Given the description of an element on the screen output the (x, y) to click on. 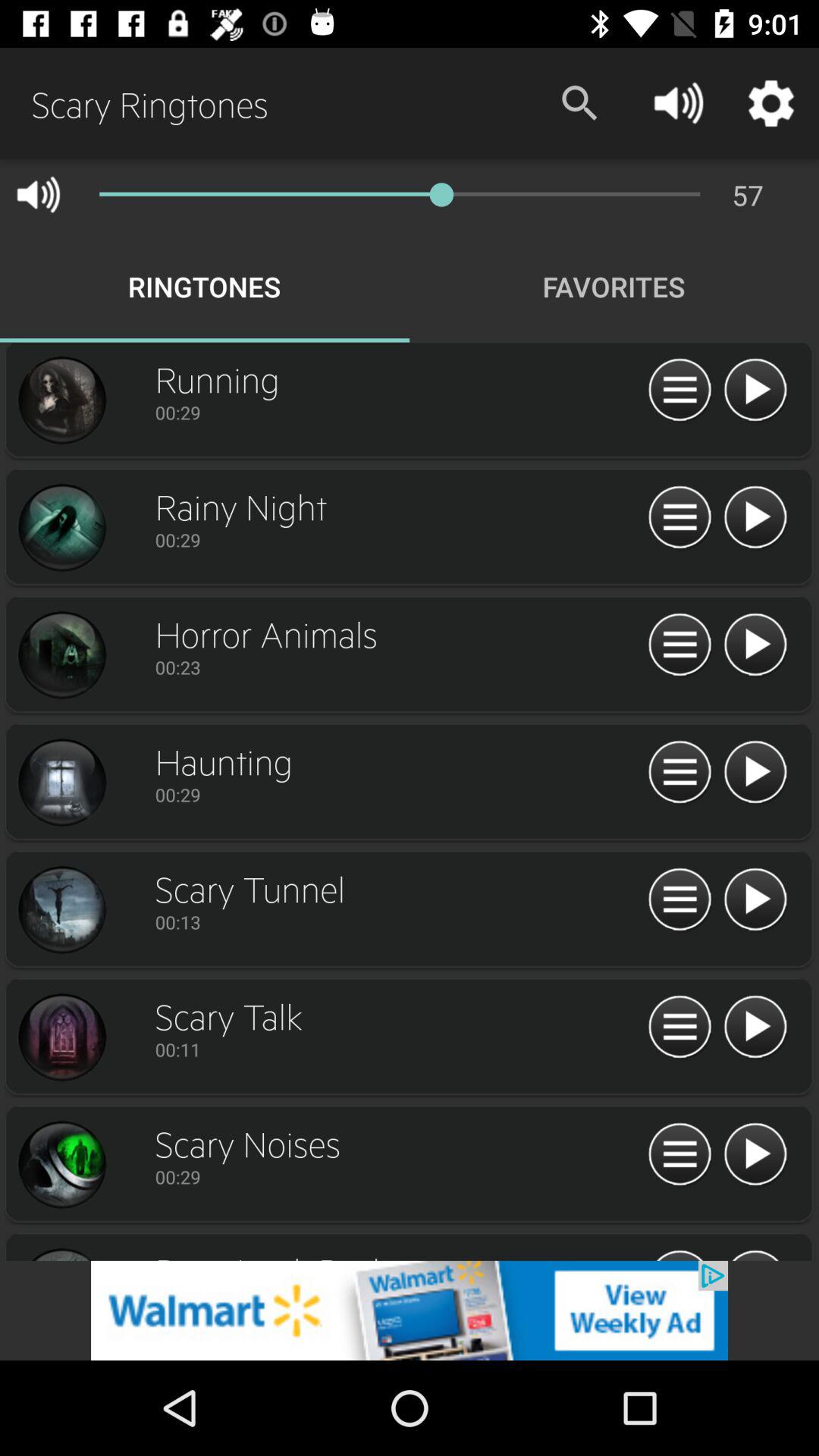
play ringtone (755, 772)
